Given the description of an element on the screen output the (x, y) to click on. 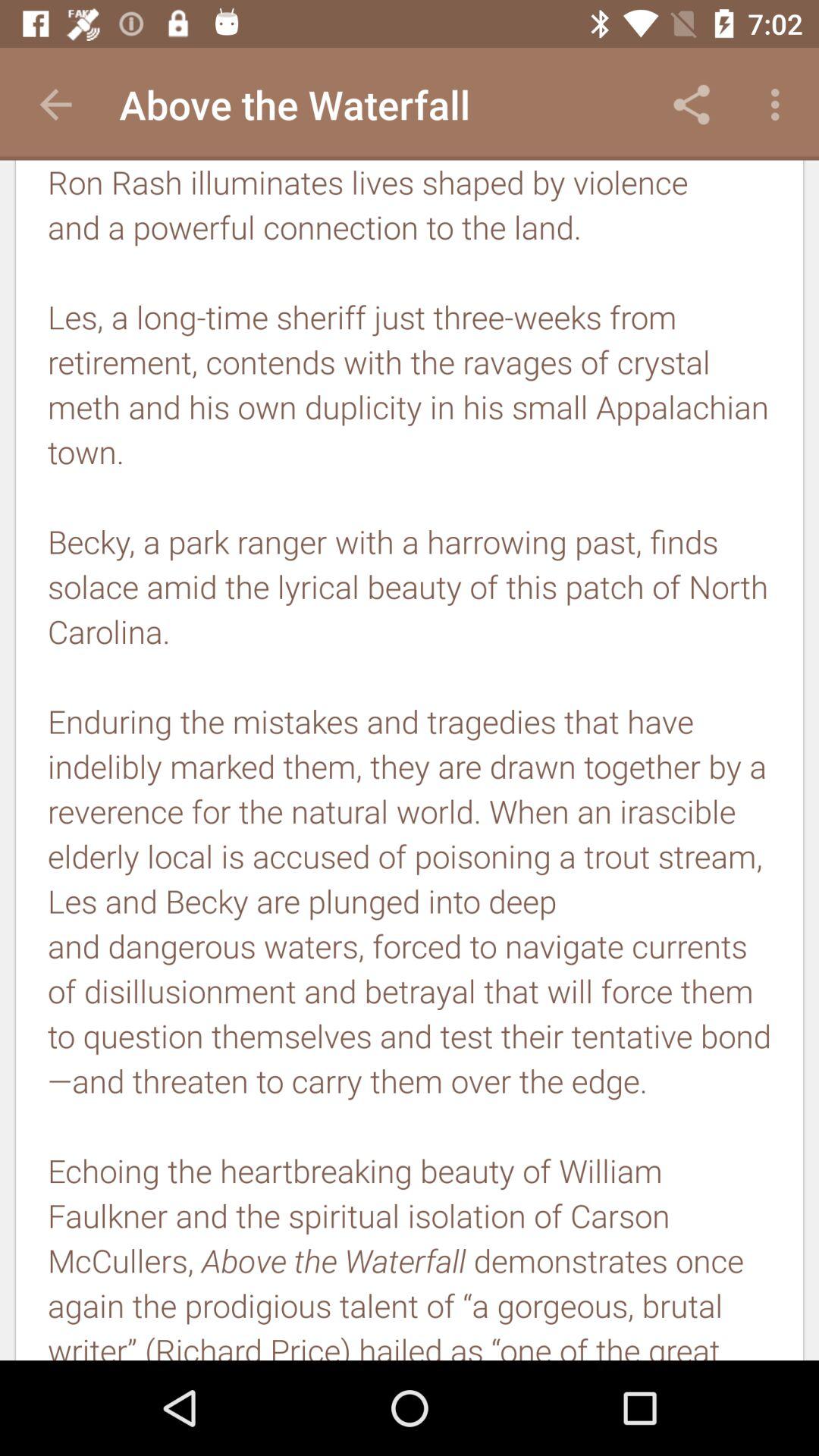
turn off the icon at the top left corner (55, 104)
